Given the description of an element on the screen output the (x, y) to click on. 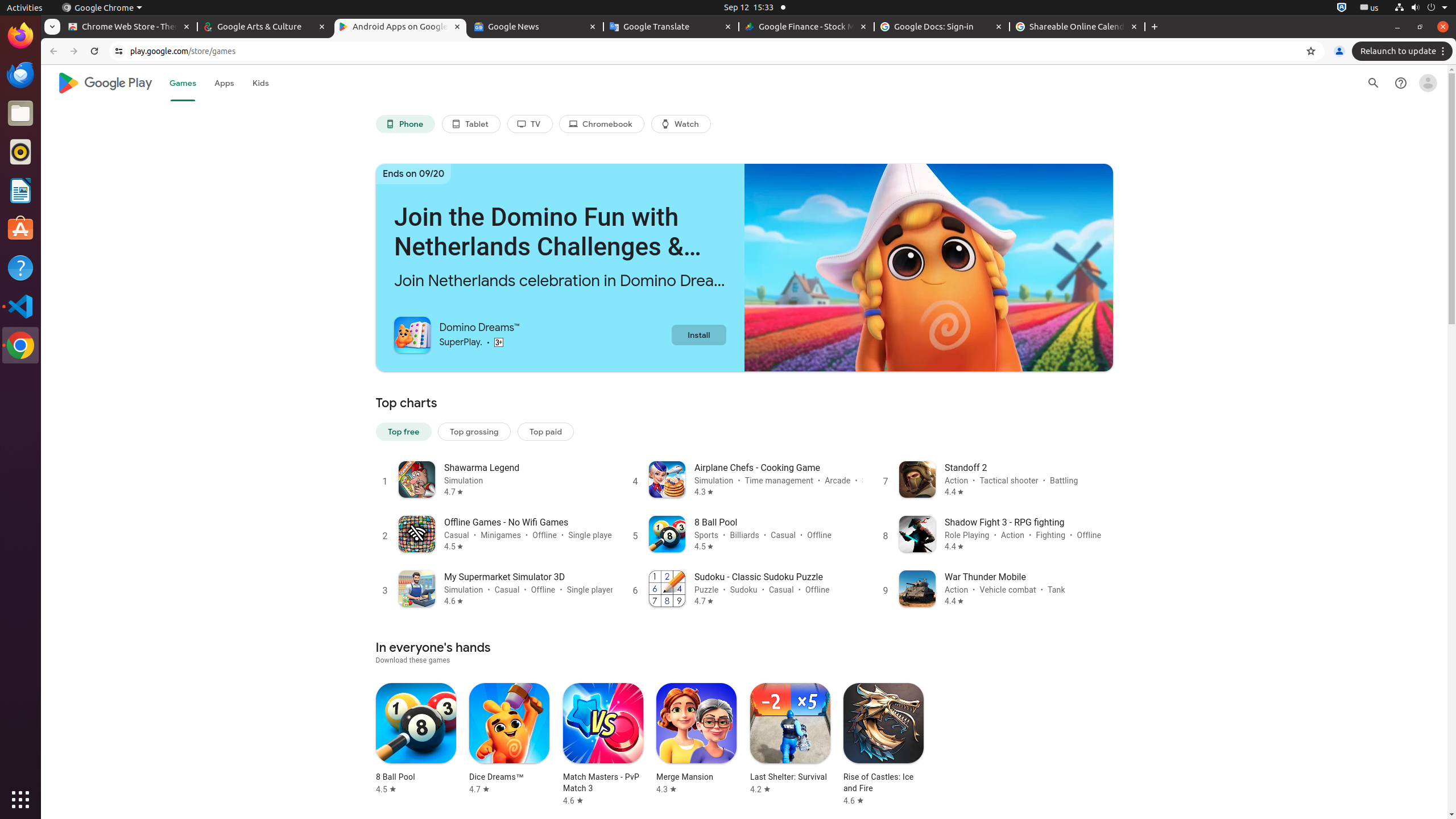
Rank 2 Offline Games - No Wifi Games Casual • Minigames • Offline • Single player Rated 4.5 stars out of five stars Element type: link (493, 533)
Rank 9 War Thunder Mobile Action • Vehicle combat • Tank Rated 4.4 stars out of five stars Element type: link (994, 587)
Google Docs: Sign-in - Memory usage - 35.1 MB Element type: page-tab (941, 26)
:1.72/StatusNotifierItem Element type: menu (1341, 7)
Rank 1 Shawarma Legend Simulation Rated 4.7 stars out of five stars Element type: link (493, 478)
